Given the description of an element on the screen output the (x, y) to click on. 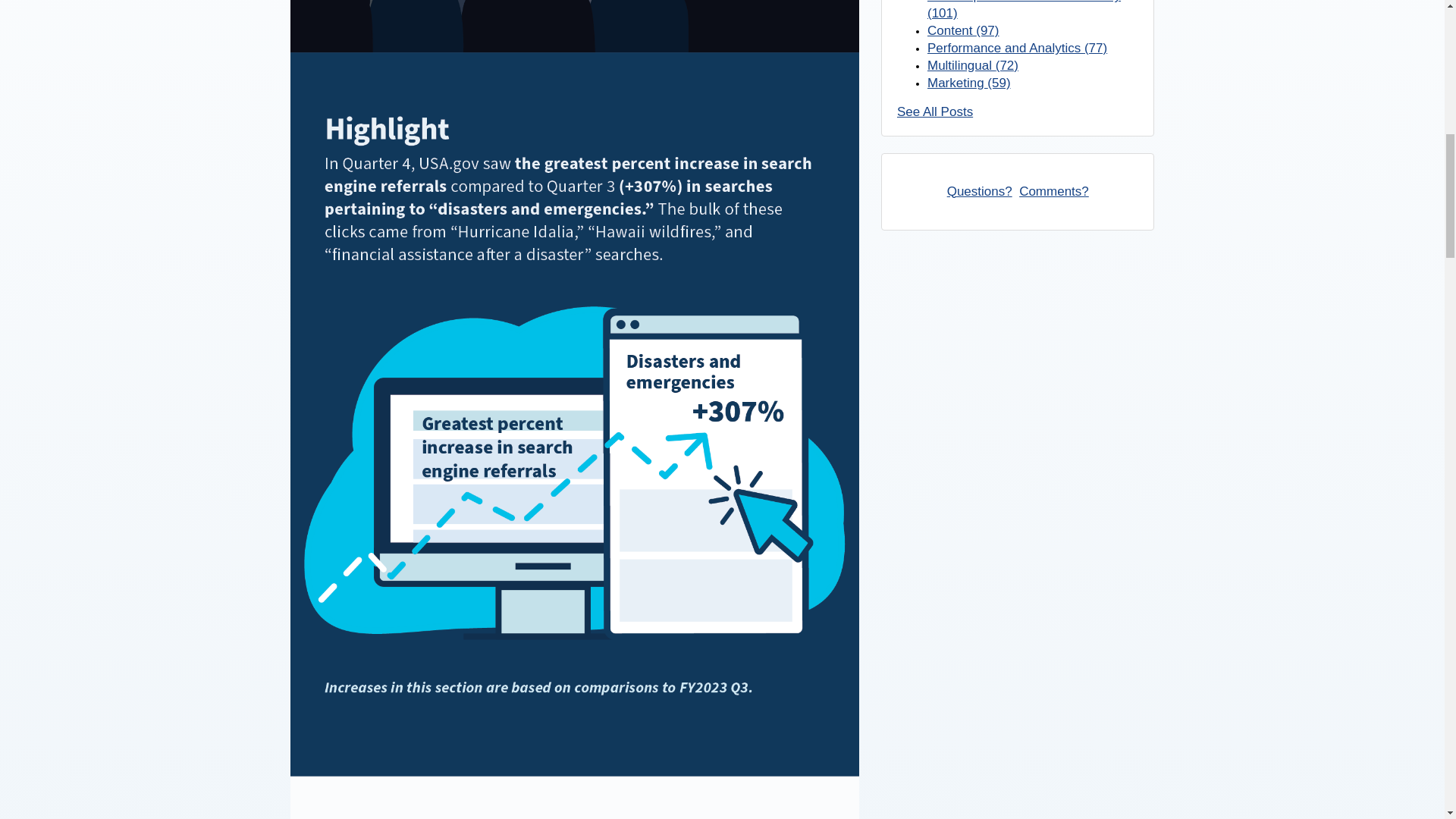
Questions? (979, 191)
See All Posts (934, 111)
Comments? (1054, 191)
